Given the description of an element on the screen output the (x, y) to click on. 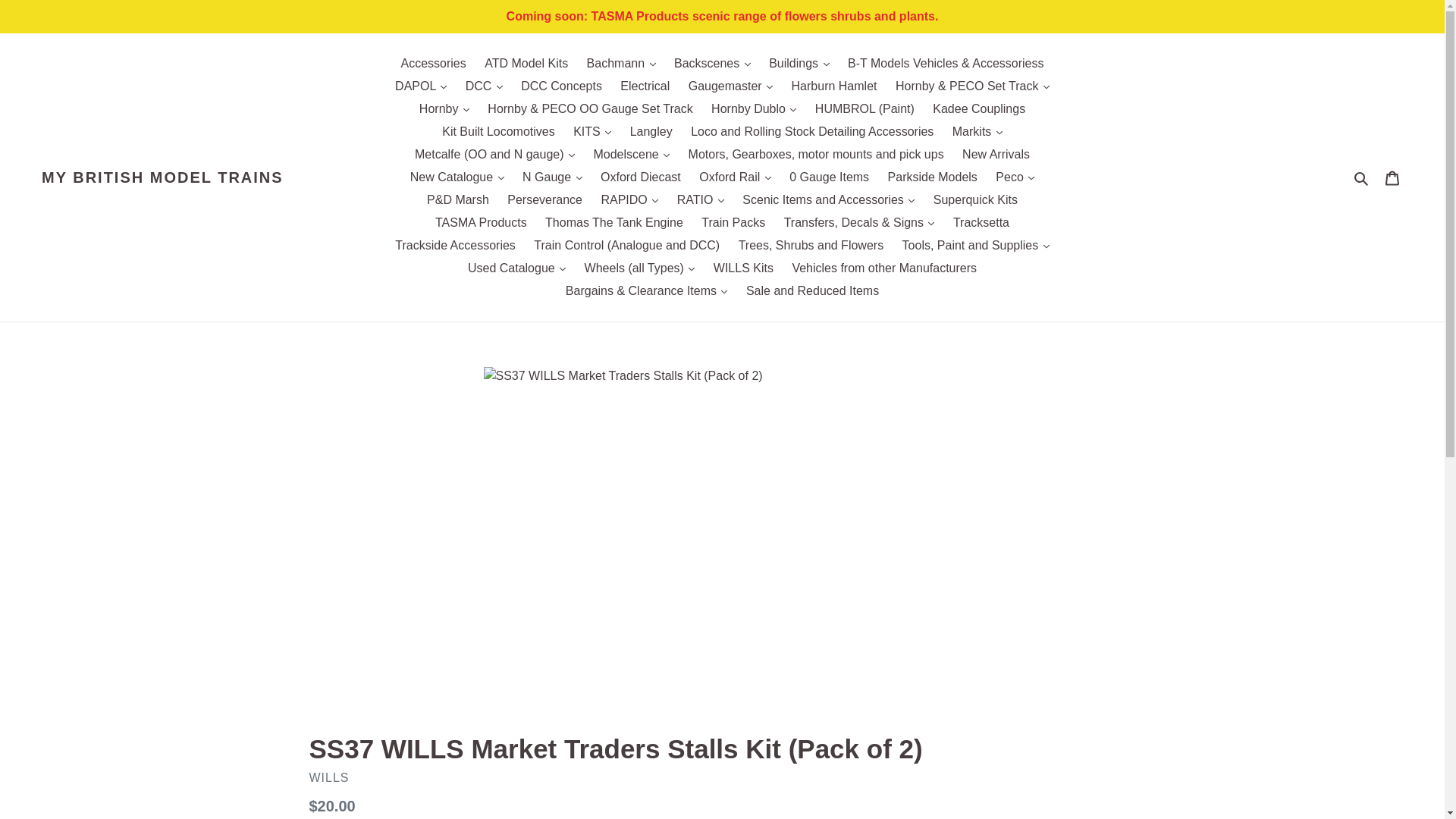
MY BRITISH MODEL TRAINS (162, 177)
Accessories (433, 63)
ATD Model Kits (526, 63)
Electrical (644, 86)
DCC Concepts (561, 86)
